Given the description of an element on the screen output the (x, y) to click on. 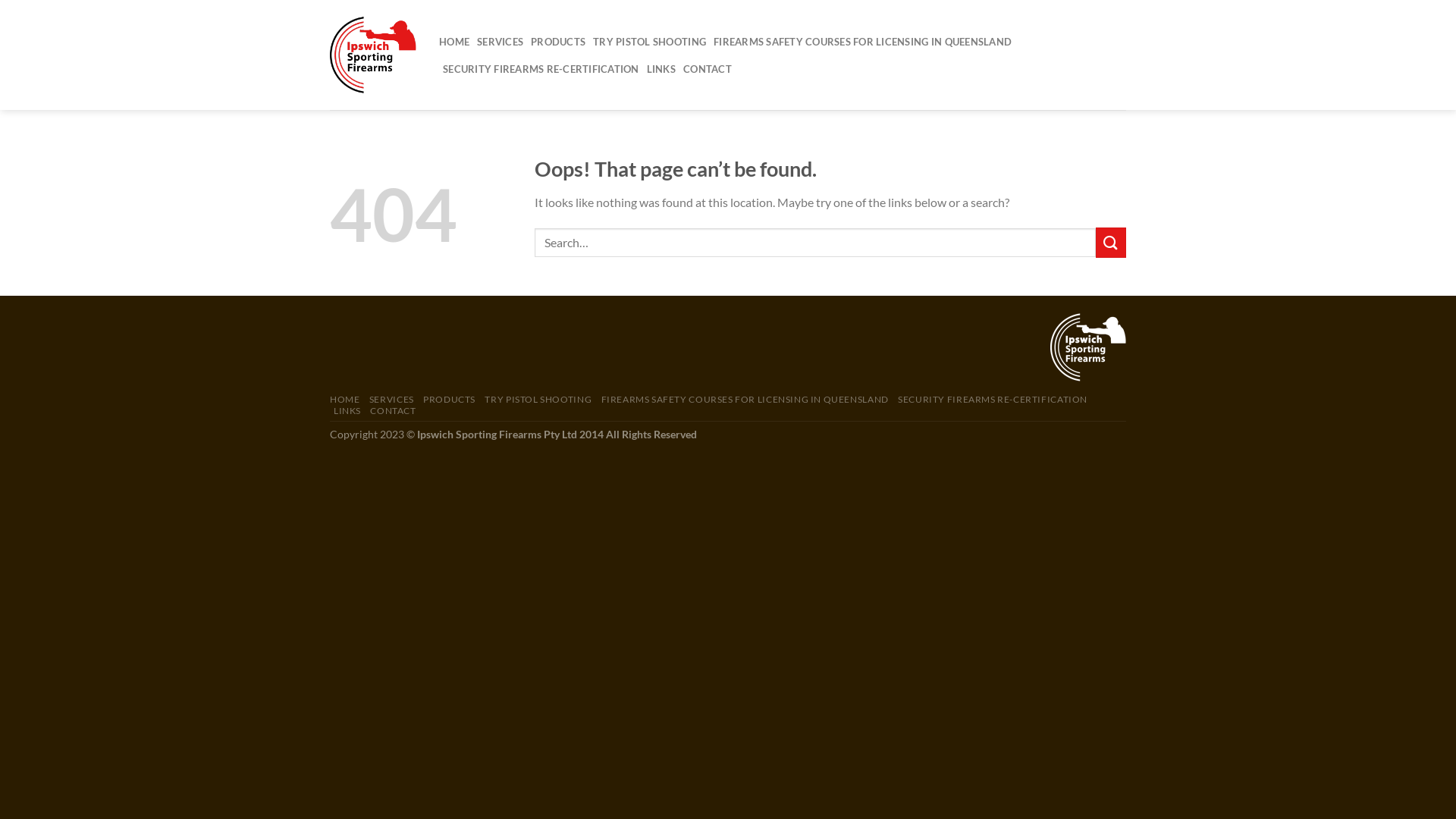
LINKS Element type: text (346, 410)
PRODUCTS Element type: text (557, 40)
LINKS Element type: text (660, 67)
SERVICES Element type: text (391, 398)
TRY PISTOL SHOOTING Element type: text (537, 398)
TRY PISTOL SHOOTING Element type: text (649, 40)
CONTACT Element type: text (707, 67)
Ipswich Sporting Firearms - Firearms safety and training Element type: hover (372, 54)
CONTACT Element type: text (392, 410)
FIREARMS SAFETY COURSES FOR LICENSING IN QUEENSLAND Element type: text (744, 398)
HOME Element type: text (454, 40)
FIREARMS SAFETY COURSES FOR LICENSING IN QUEENSLAND Element type: text (862, 40)
PRODUCTS Element type: text (449, 398)
SECURITY FIREARMS RE-CERTIFICATION Element type: text (992, 398)
SERVICES Element type: text (499, 40)
HOME Element type: text (344, 398)
SECURITY FIREARMS RE-CERTIFICATION Element type: text (540, 67)
